Given the description of an element on the screen output the (x, y) to click on. 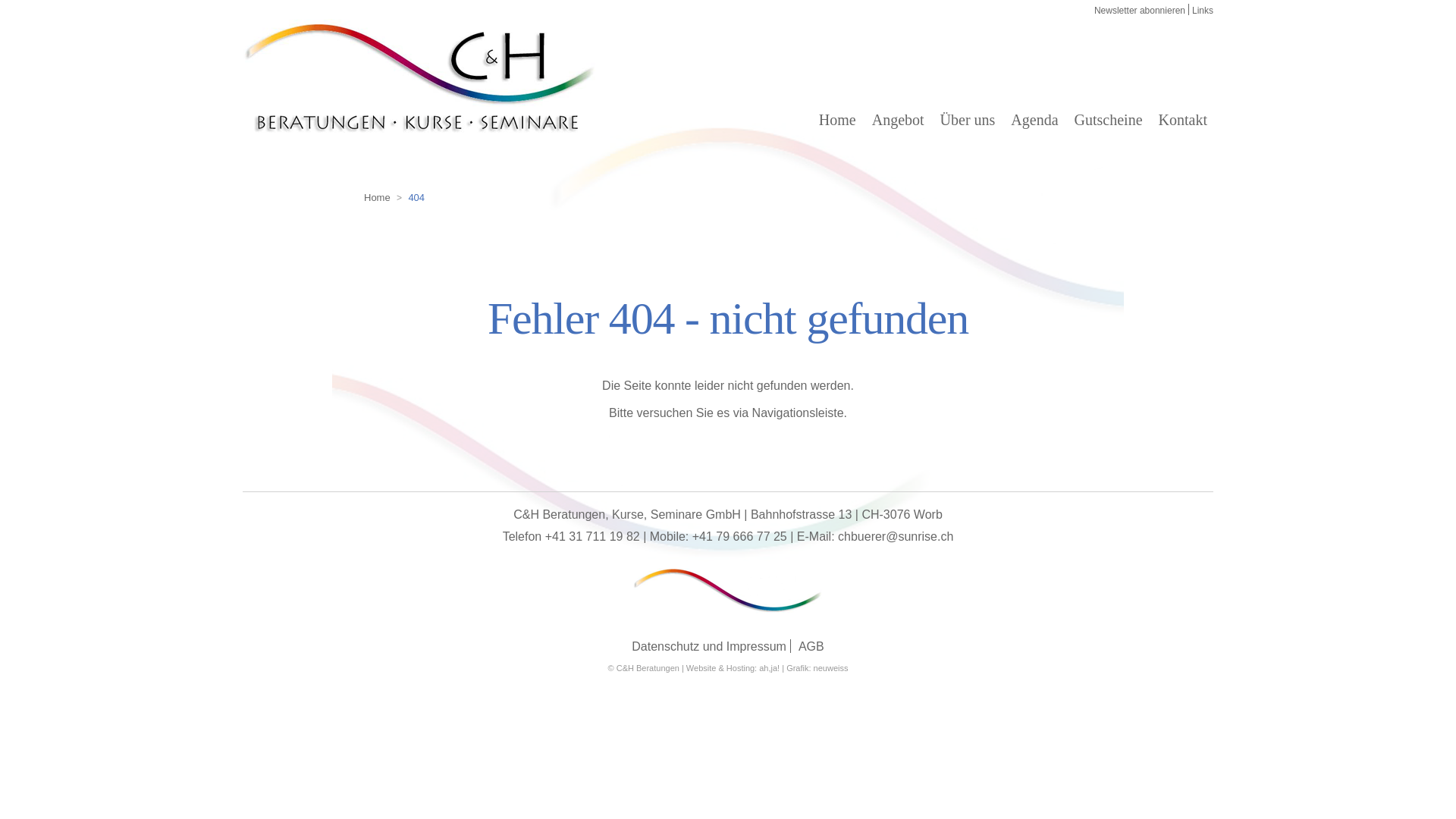
Angebot Element type: text (898, 119)
404 Element type: text (416, 197)
ah,ja! Element type: text (769, 667)
chbuerer@sunrise.ch Element type: text (895, 536)
Datenschutz und Impressum Element type: text (708, 646)
AGB Element type: text (811, 646)
Home Element type: text (837, 119)
neuweiss Element type: text (830, 667)
Agenda Element type: text (1033, 119)
Mobile: +41 79 666 77 25 Element type: text (718, 536)
+41 31 711 19 82 Element type: text (592, 536)
Kontakt Element type: text (1182, 119)
Gutscheine Element type: text (1108, 119)
Links Element type: text (1202, 10)
Home Element type: text (377, 197)
Newsletter abonnieren Element type: text (1139, 10)
